Given the description of an element on the screen output the (x, y) to click on. 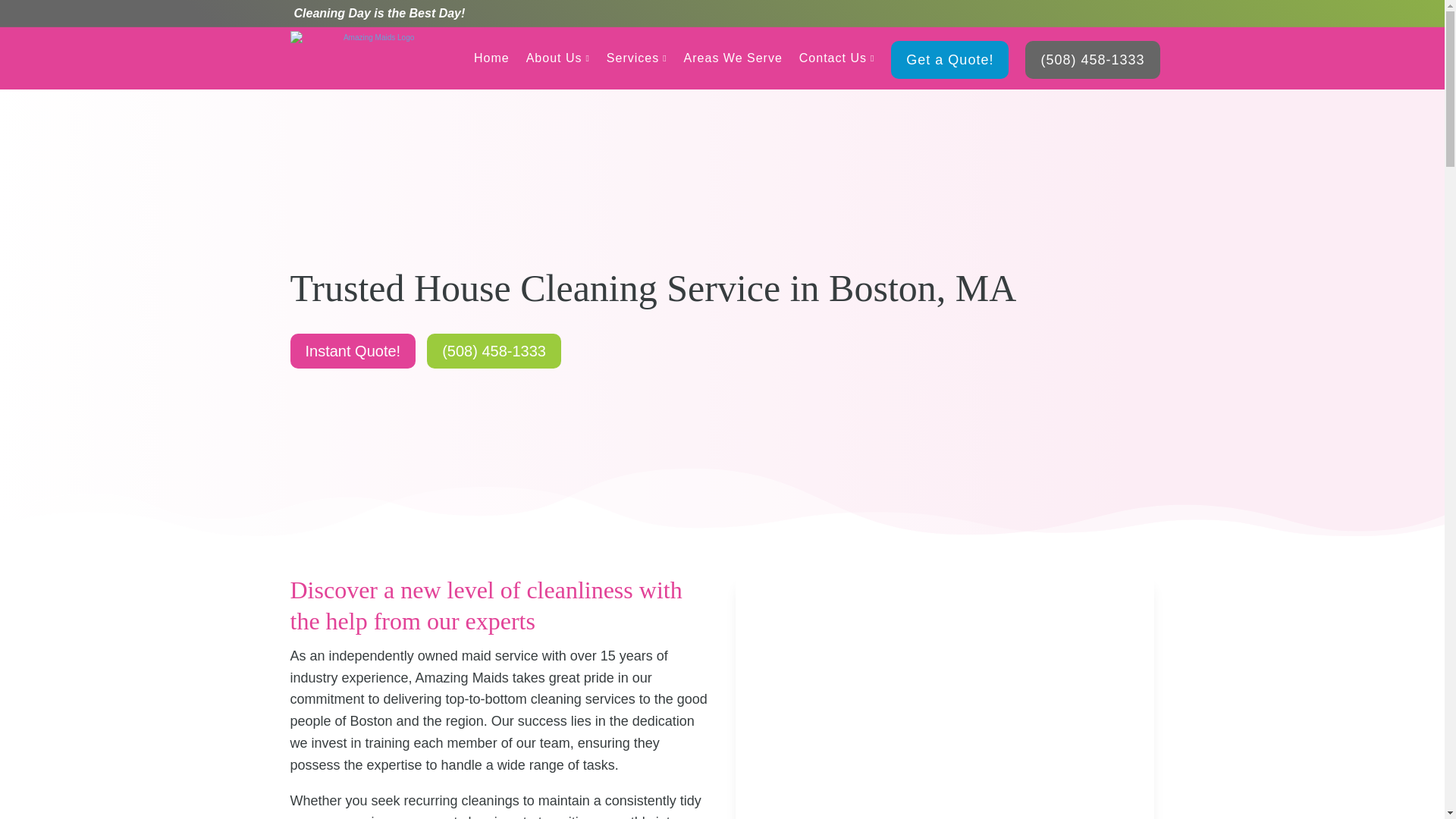
Contact Us (837, 58)
Get a Quote! (950, 59)
Get a Quote! (950, 59)
Services (636, 58)
Office Phone Number (1091, 59)
Contact Us  (837, 58)
Areas We Serve (733, 58)
About Us (557, 58)
Instant Quote! (351, 350)
